Given the description of an element on the screen output the (x, y) to click on. 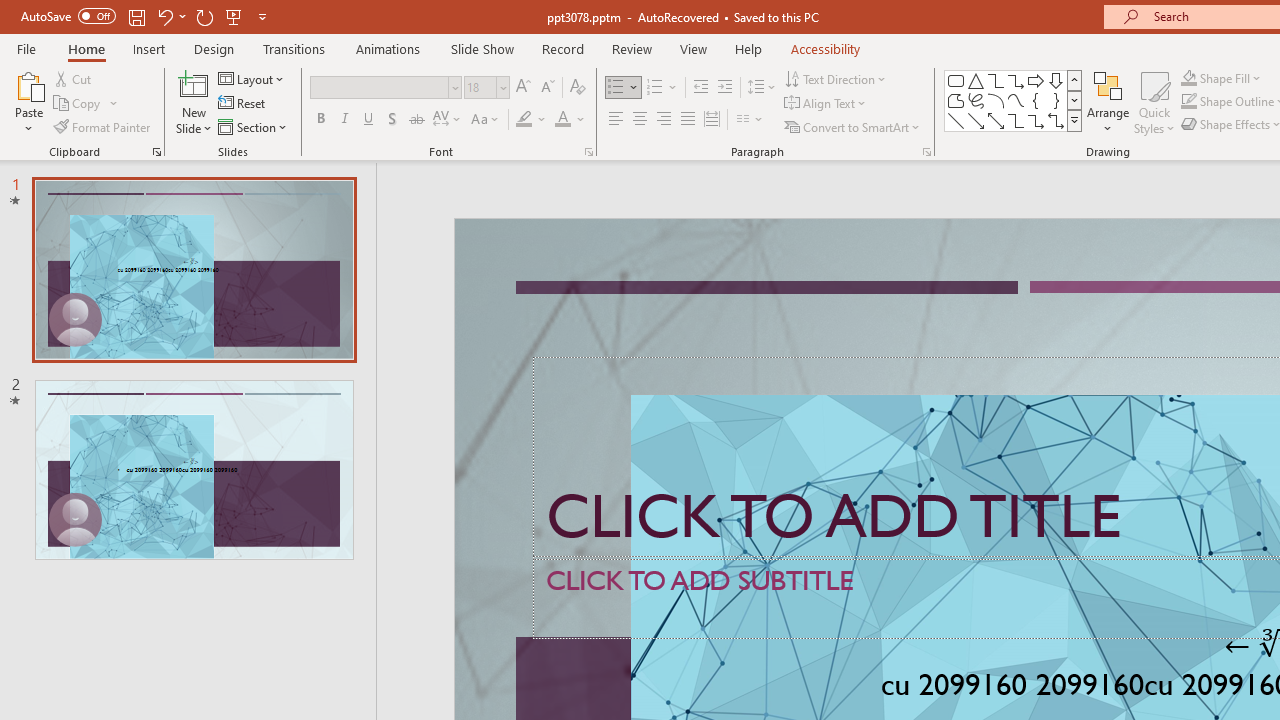
Connector: Elbow Double-Arrow (1055, 120)
